Given the description of an element on the screen output the (x, y) to click on. 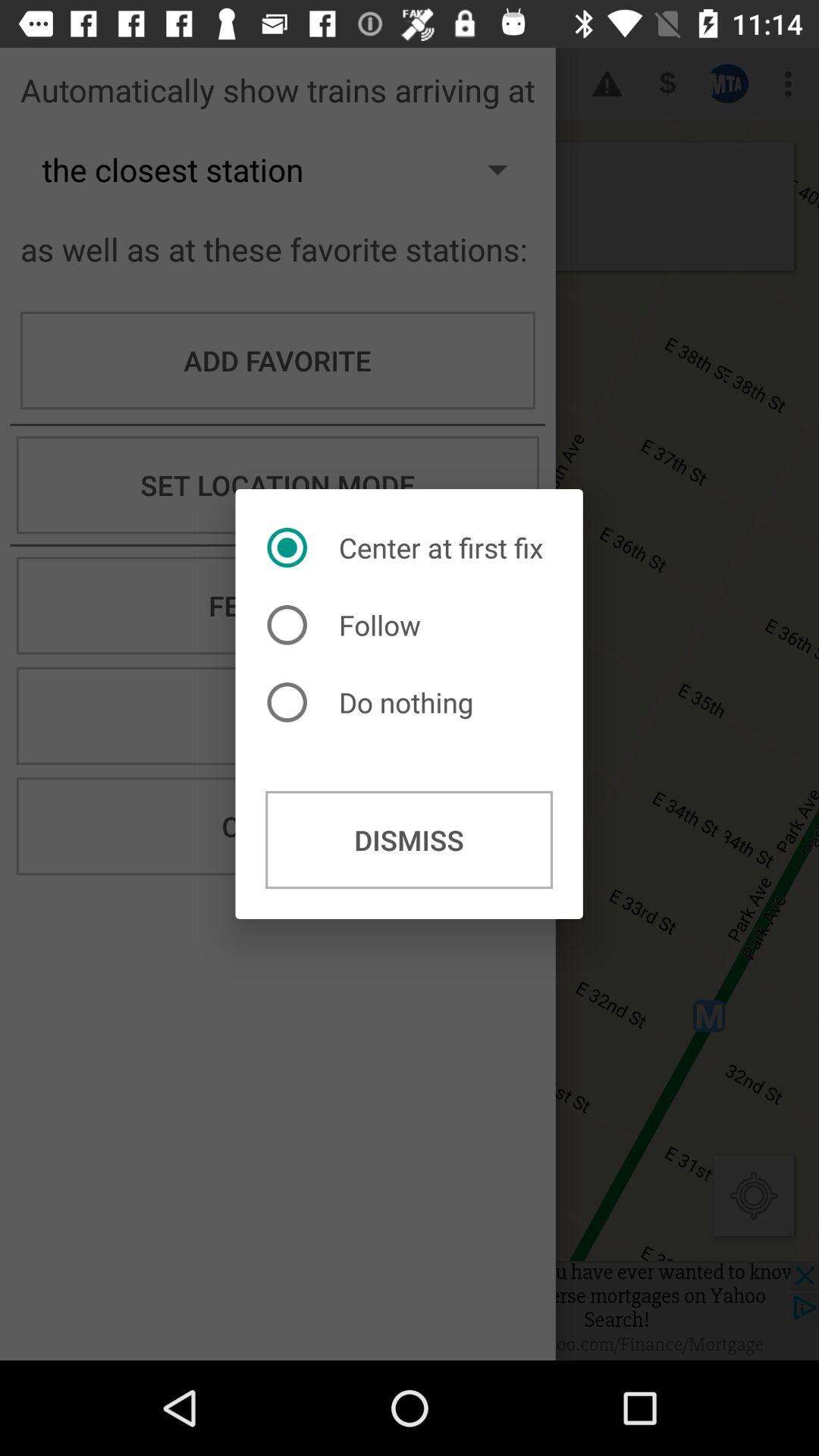
turn on center at first item (409, 547)
